Given the description of an element on the screen output the (x, y) to click on. 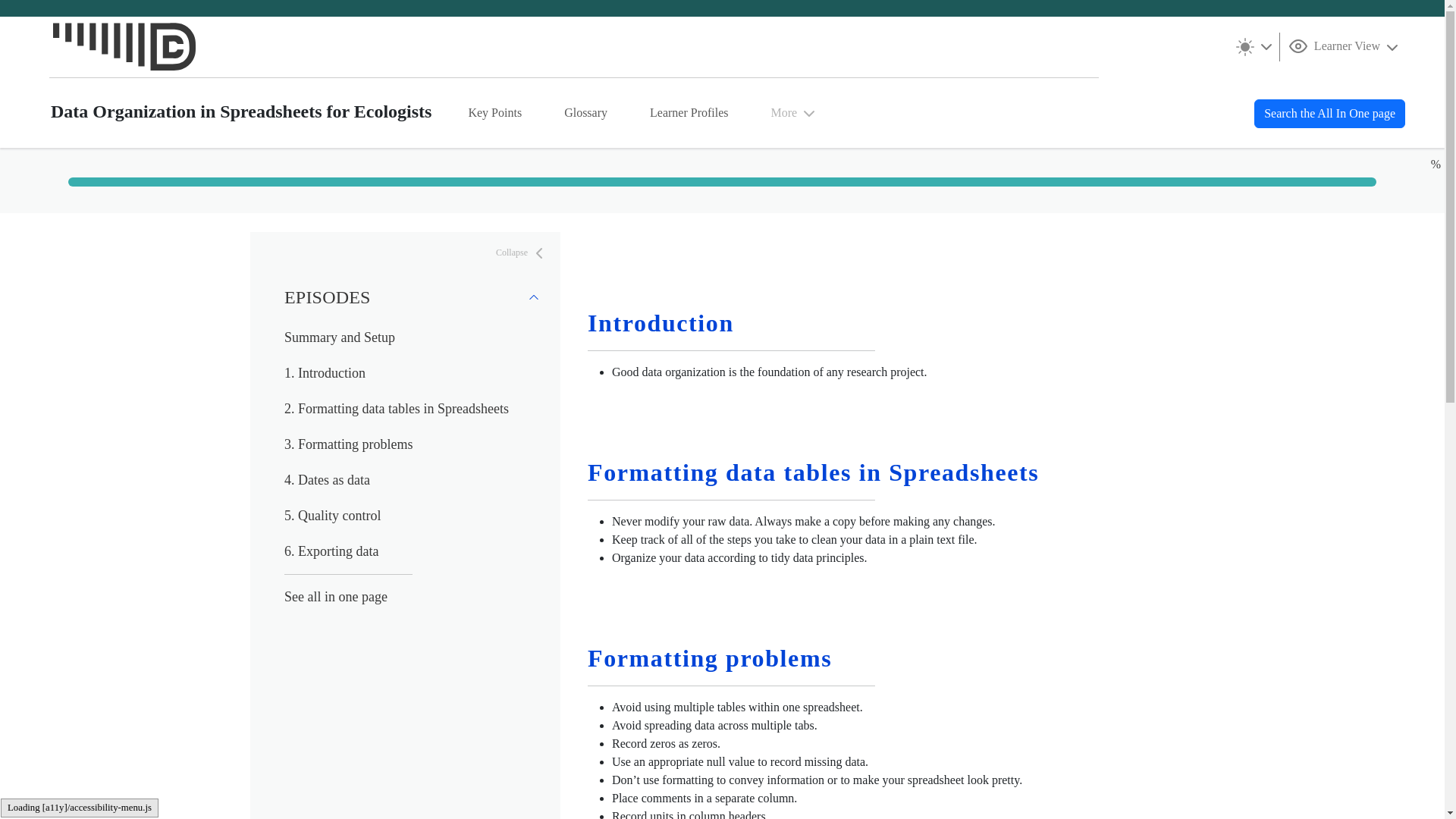
Collapse (522, 252)
Key Points (494, 112)
Learner Profiles (689, 112)
Formatting problems (709, 657)
5. Quality control (331, 515)
6. Exporting data (330, 550)
Summary and Setup (338, 337)
3. Formatting problems (348, 444)
More (795, 112)
Search the All In One page (1329, 113)
1. Introduction (324, 372)
2. Formatting data tables in Spreadsheets (395, 408)
See all in one page (335, 596)
4. Dates as data (326, 479)
Glossary (584, 112)
